Given the description of an element on the screen output the (x, y) to click on. 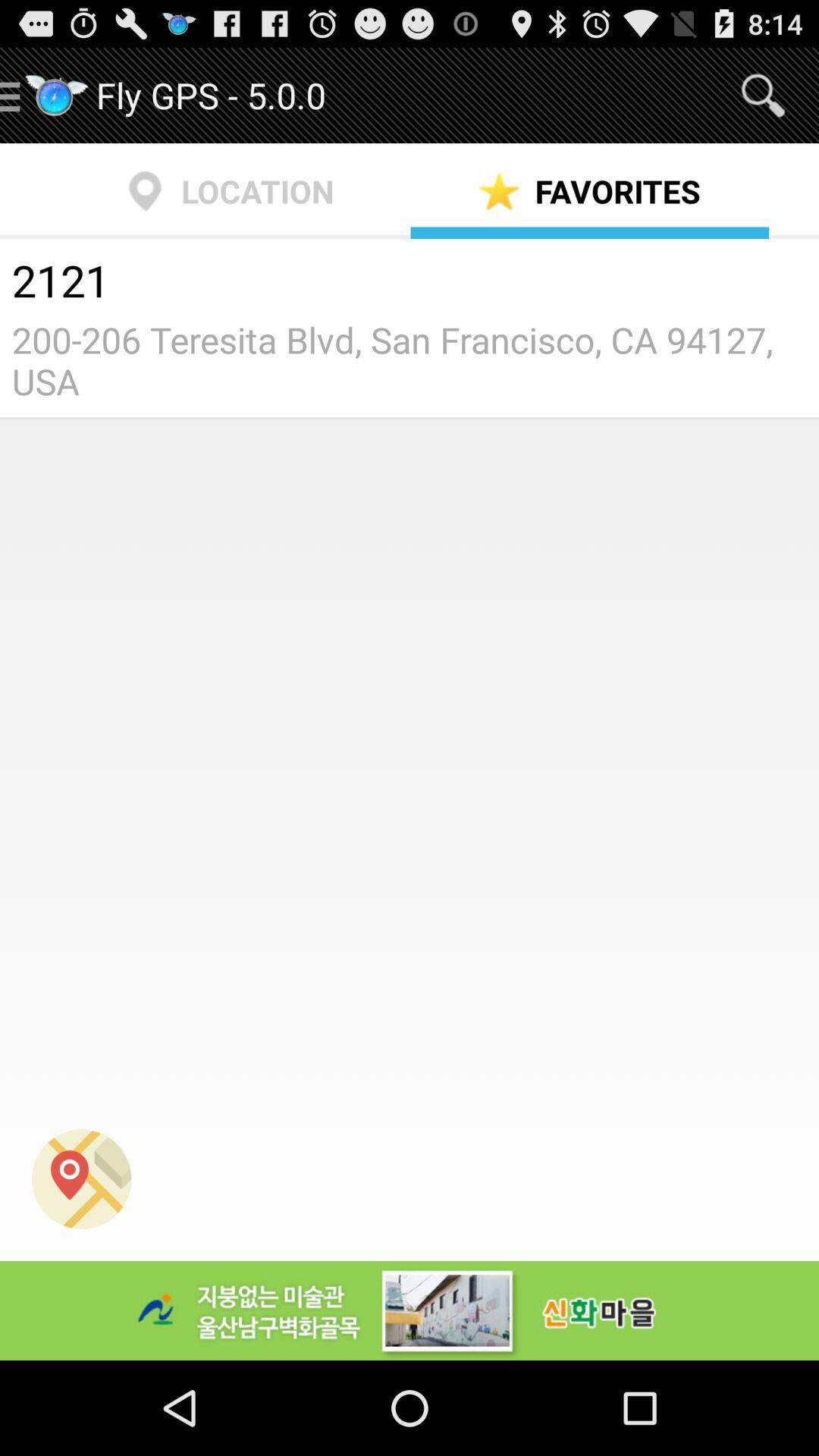
click item to the right of the fly gps 5 item (763, 95)
